Given the description of an element on the screen output the (x, y) to click on. 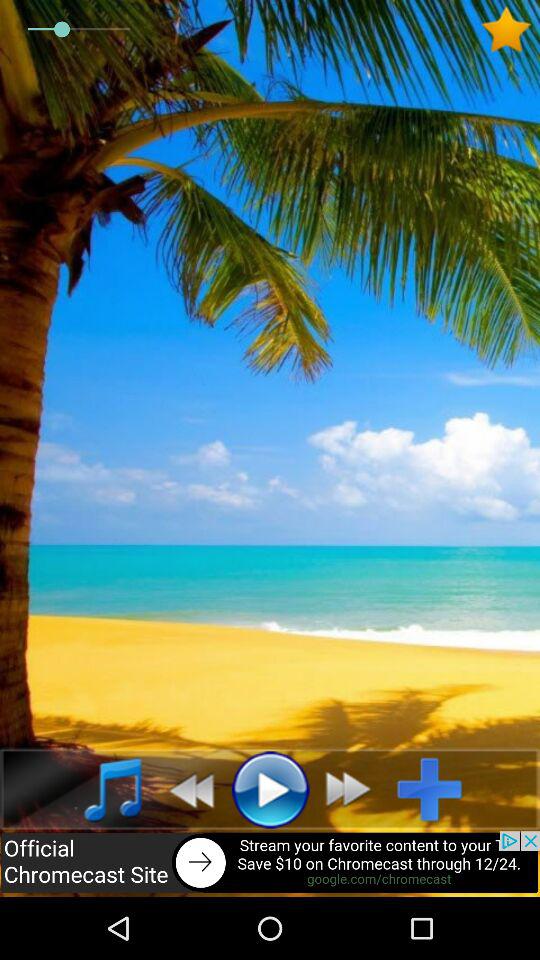
play (269, 789)
